Given the description of an element on the screen output the (x, y) to click on. 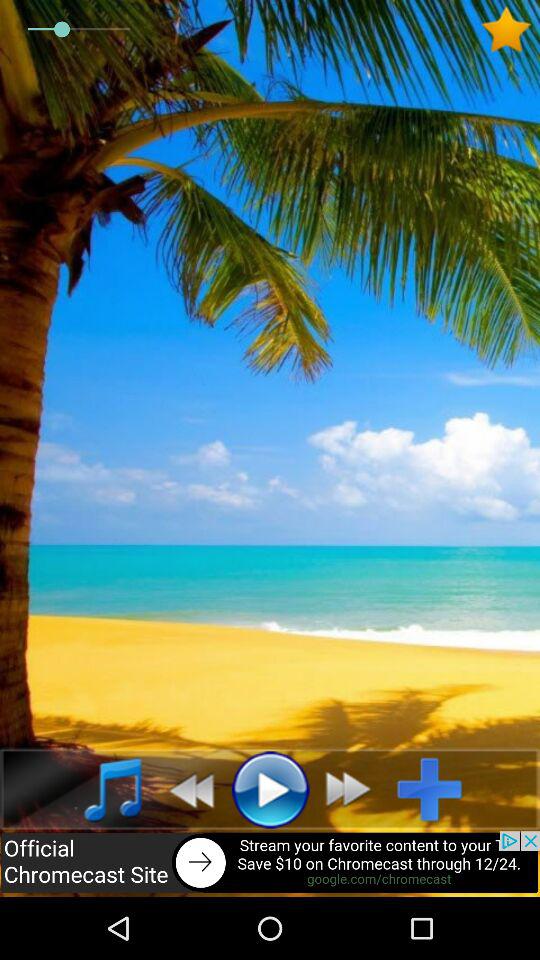
play (269, 789)
